Given the description of an element on the screen output the (x, y) to click on. 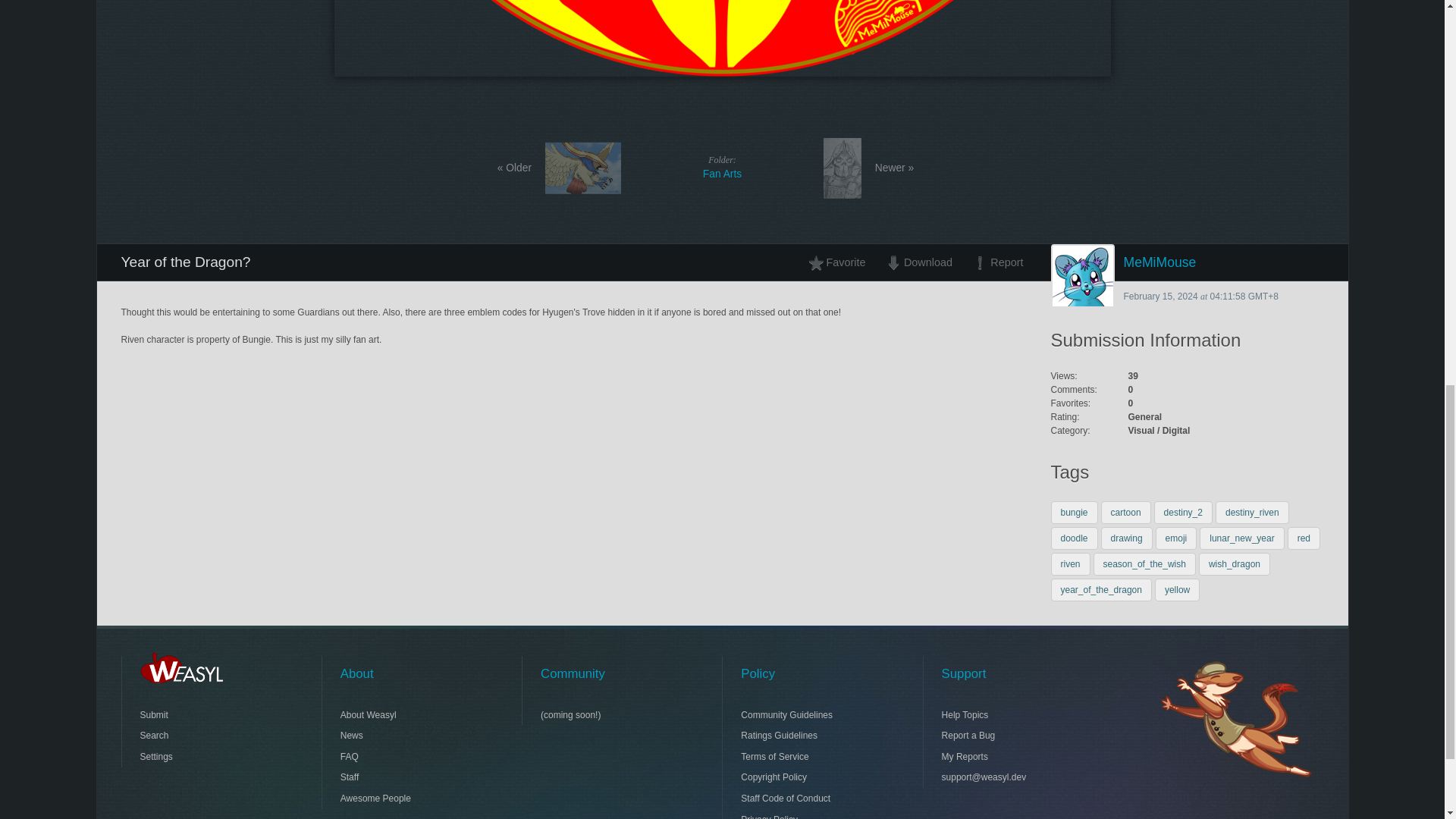
riven (1070, 563)
emoji (1176, 538)
Download (918, 262)
Favorite (841, 262)
Report (993, 262)
cartoon (1125, 512)
doodle (1074, 538)
red (1303, 538)
MeMiMouse (1187, 262)
yellow (1176, 589)
